Given the description of an element on the screen output the (x, y) to click on. 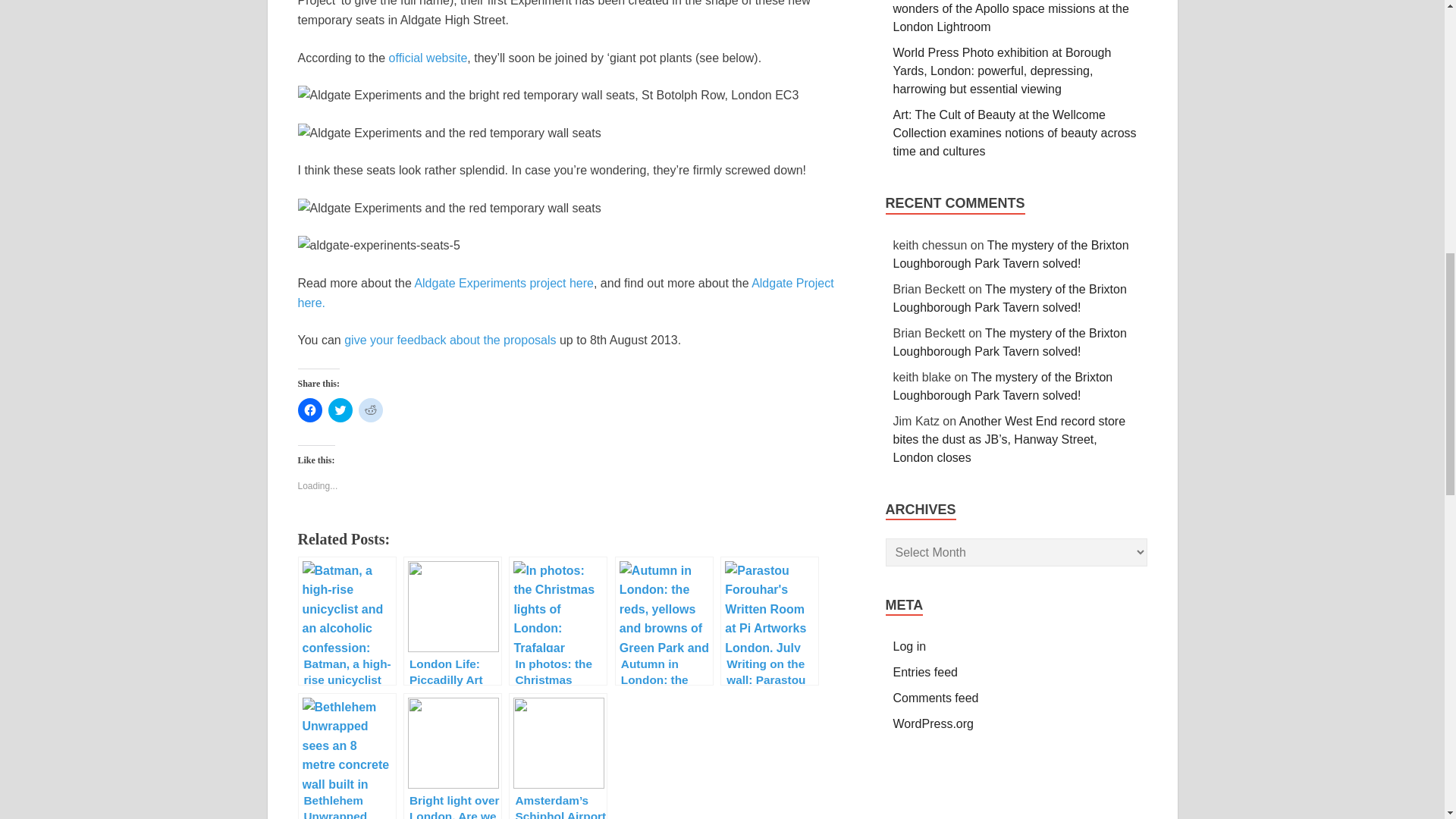
Click to share on Twitter (339, 410)
Click to share on Reddit (369, 410)
official website (427, 57)
give your feedback about the proposals (449, 339)
Aldgate Experiments project here (503, 282)
Aldgate Project here. (564, 292)
Click to share on Facebook (309, 410)
